Given the description of an element on the screen output the (x, y) to click on. 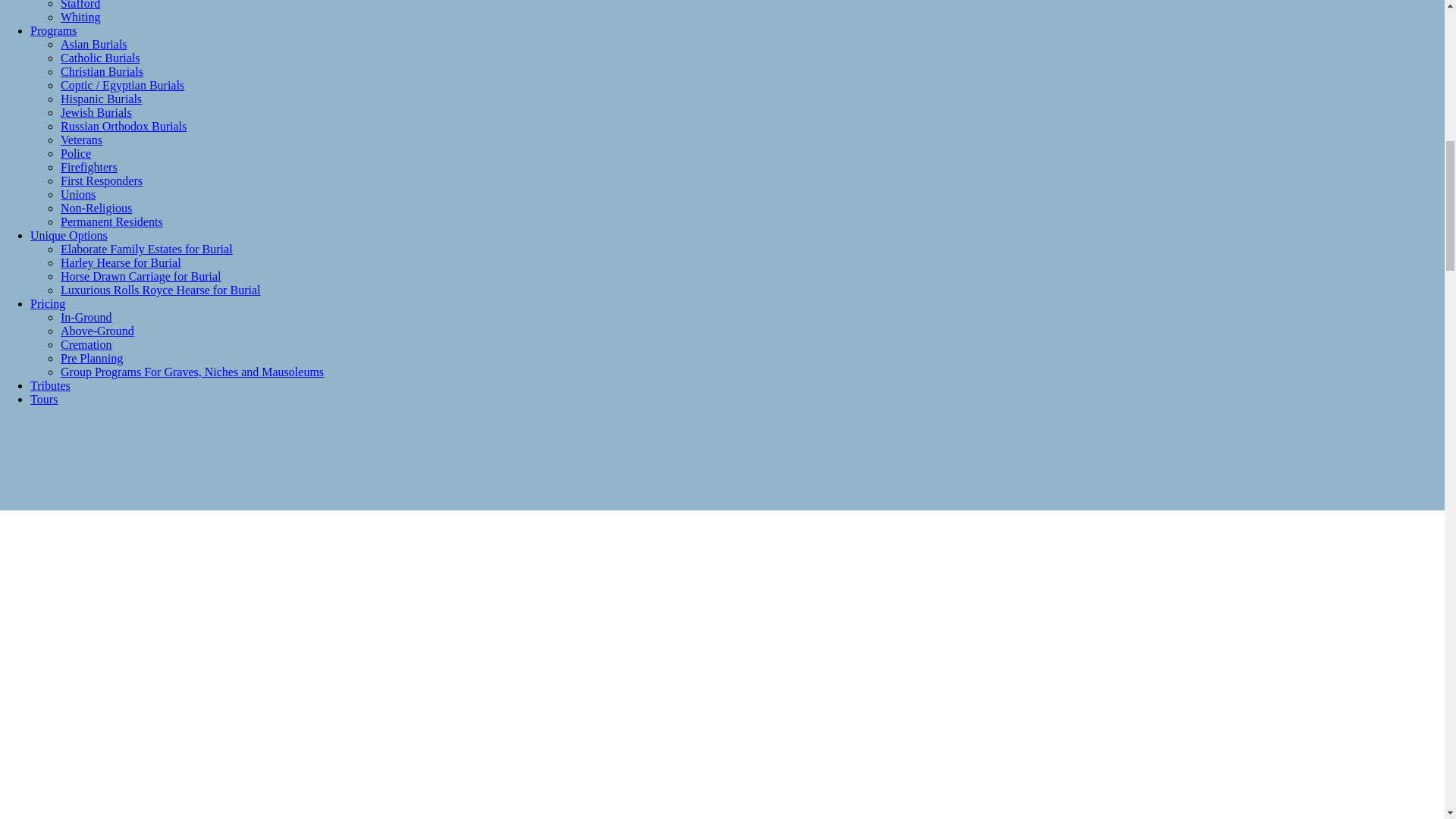
Non-Religious (96, 207)
Stafford (80, 4)
Hispanic Burials (101, 98)
Harley Hearse for Burial (120, 262)
Above-Ground (97, 330)
In-Ground (86, 317)
Unique Options (68, 235)
Russian Orthodox Burials (123, 125)
Pricing (47, 303)
Luxurious Rolls Royce Hearse for Burial (160, 289)
Pre Planning (91, 358)
Cremation (86, 344)
Unions (78, 194)
Horse Drawn Carriage for Burial (141, 276)
Police (75, 153)
